Given the description of an element on the screen output the (x, y) to click on. 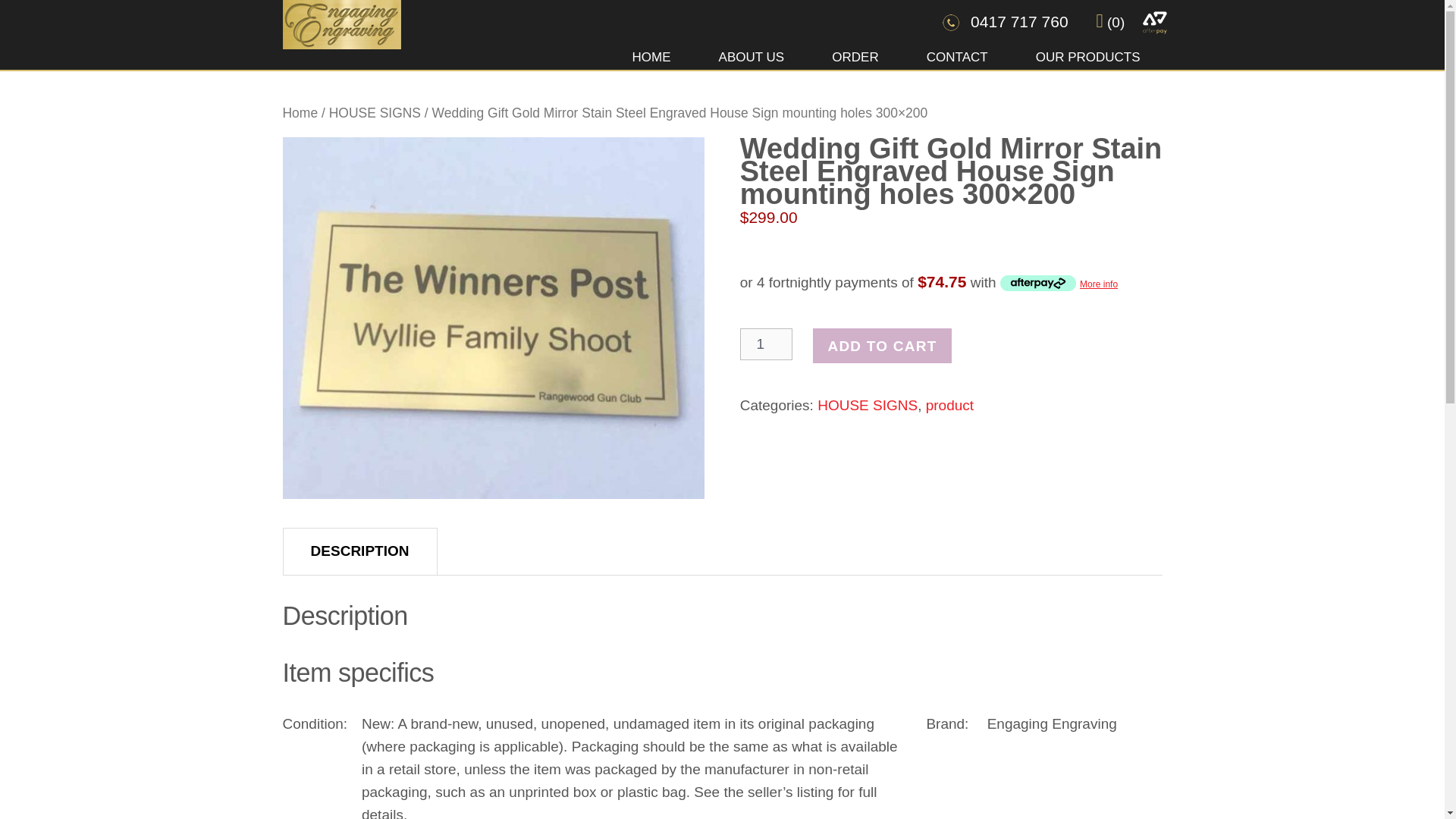
OUR PRODUCTS (1088, 52)
Engaging Engraving (341, 24)
ABOUT US (751, 52)
Qty (765, 343)
More info (1059, 282)
Home (299, 112)
product (950, 405)
HOME (651, 52)
1 (765, 343)
DESCRIPTION (359, 551)
ADD TO CART (881, 345)
Engaging Engraving (341, 33)
HOUSE SIGNS (374, 112)
CONTACT (957, 52)
ORDER (854, 52)
